Given the description of an element on the screen output the (x, y) to click on. 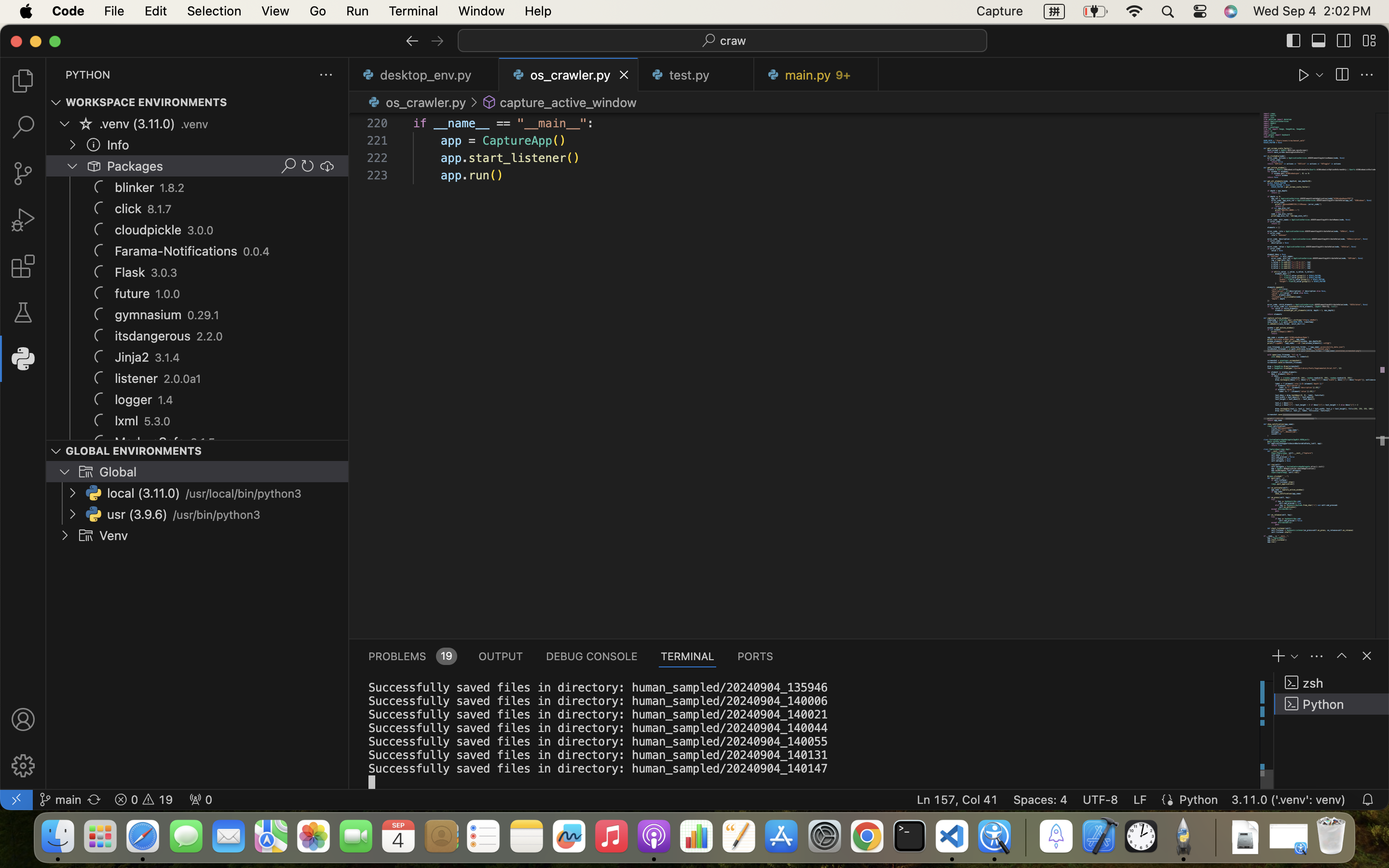
craw Element type: AXStaticText (733, 40)
 0 Element type: AXButton (200, 799)
 Element type: AXStaticText (85, 123)
PYTHON Element type: AXStaticText (87, 74)
 Element type: AXButton (326, 165)
